Given the description of an element on the screen output the (x, y) to click on. 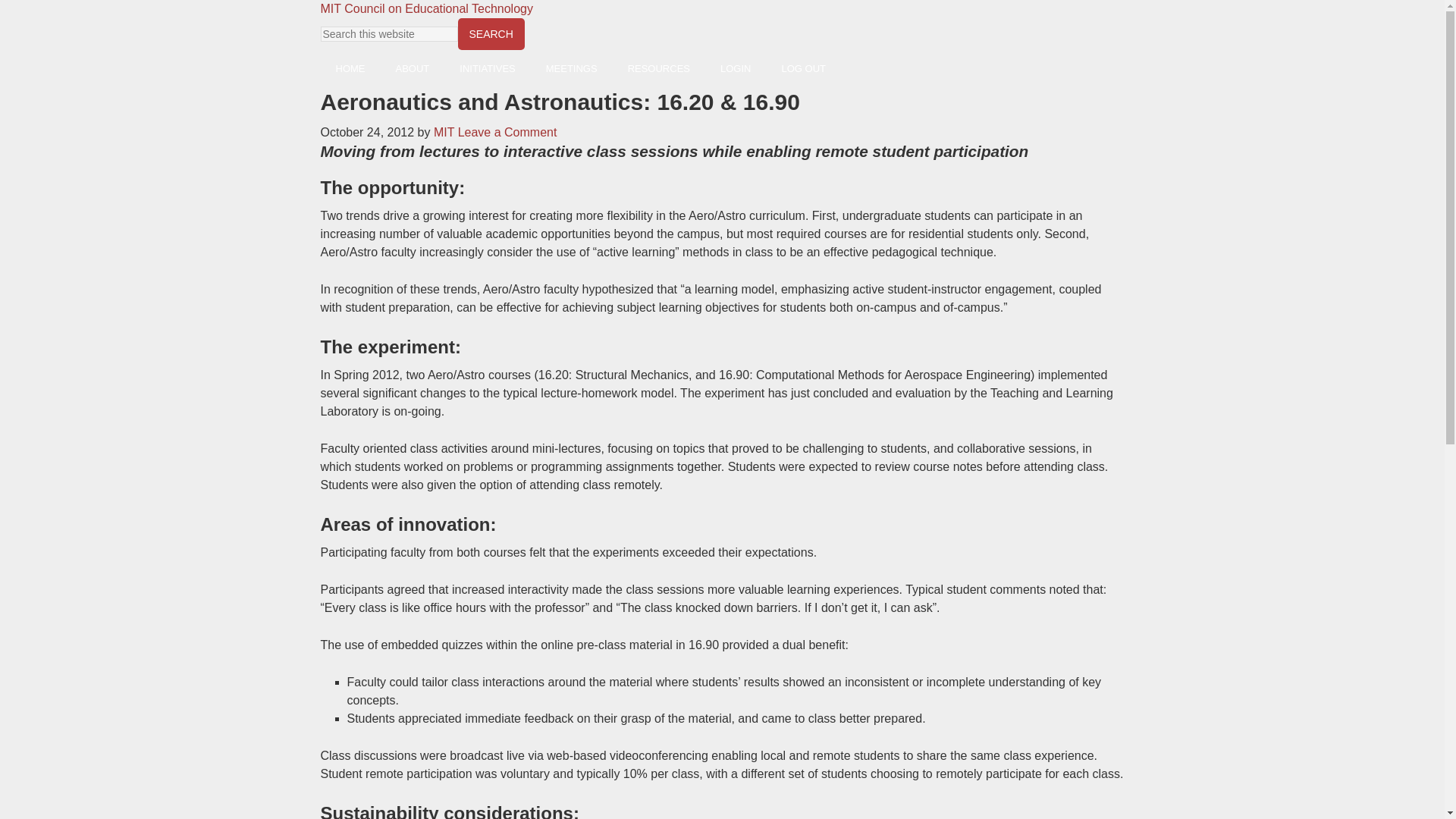
MEETINGS (571, 68)
HOME (350, 68)
LOGIN (734, 68)
MIT Council on Educational Technology (426, 8)
Search (491, 33)
ABOUT (412, 68)
INITIATIVES (486, 68)
Search (491, 33)
LOG OUT (803, 68)
RESOURCES (658, 68)
